Given the description of an element on the screen output the (x, y) to click on. 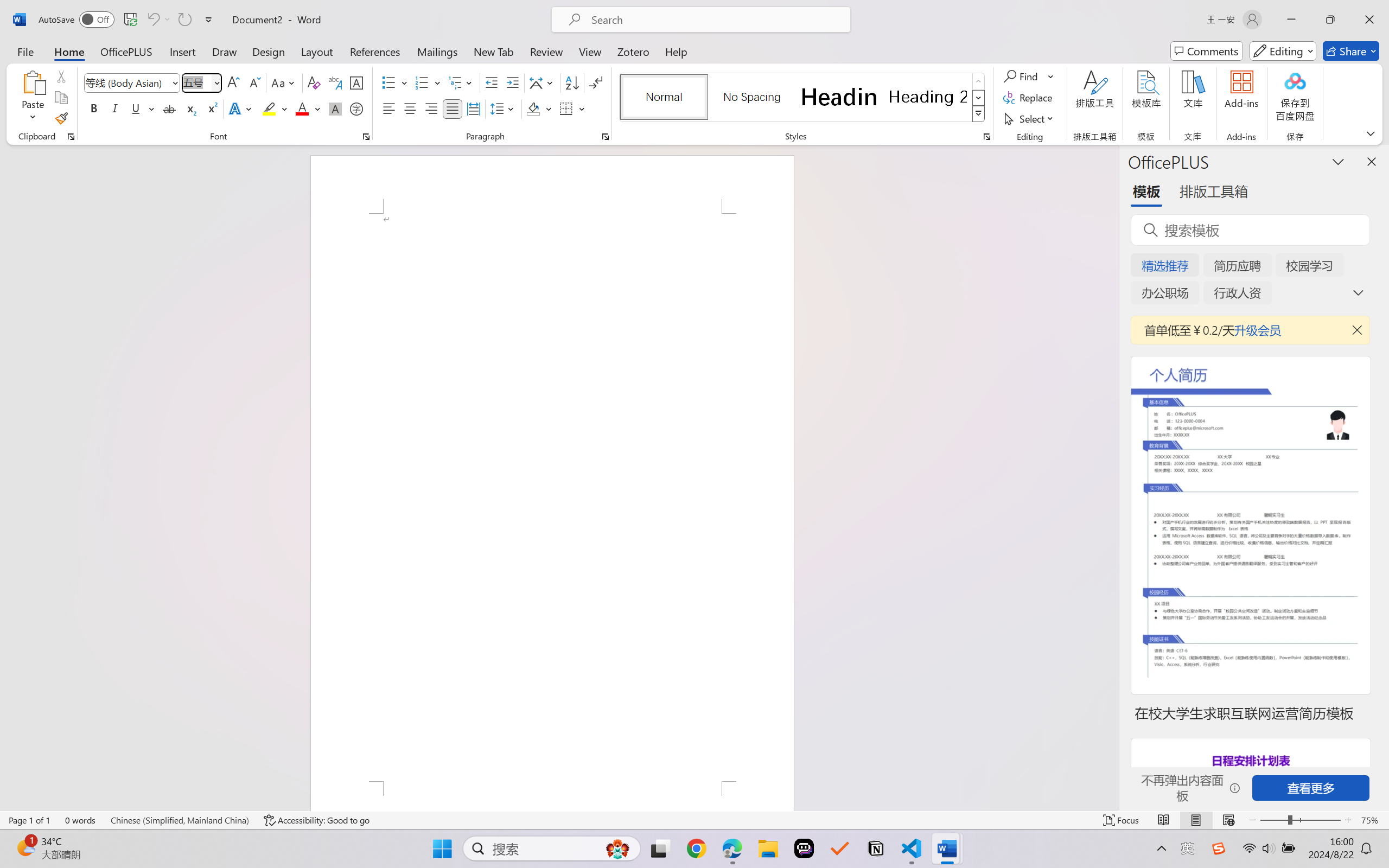
Class: NetUIImage (978, 114)
AutomationID: BadgeAnchorLargeTicker (24, 847)
Row Down (978, 97)
Font Size (201, 82)
Superscript (210, 108)
References (375, 51)
Quick Access Toolbar (127, 19)
Can't Repeat (184, 19)
Strikethrough (169, 108)
Styles (978, 113)
Home (69, 51)
AutomationID: QuickStylesGallery (802, 97)
Character Shading (334, 108)
